Given the description of an element on the screen output the (x, y) to click on. 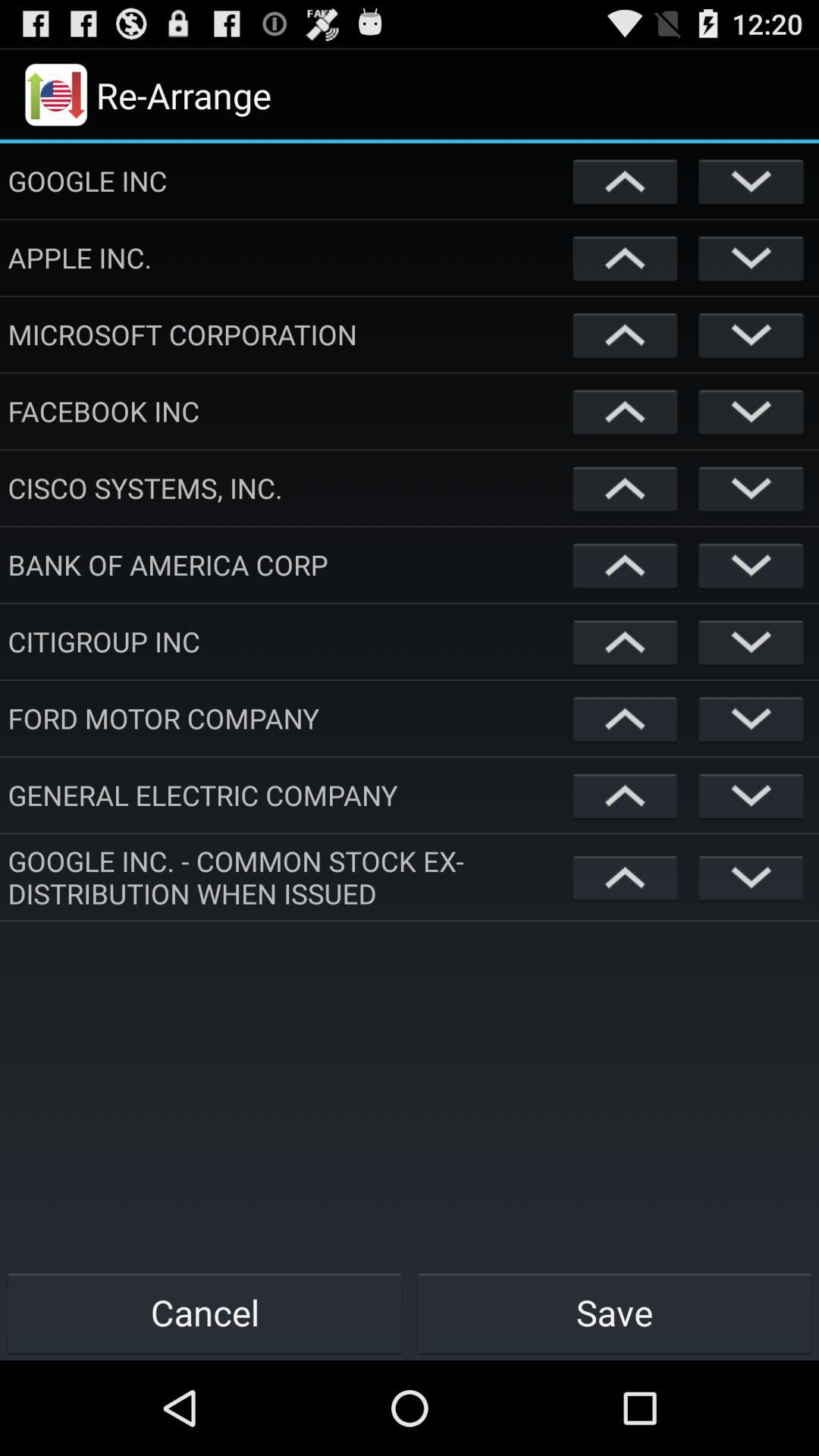
flip to cisco systems, inc. icon (286, 487)
